Given the description of an element on the screen output the (x, y) to click on. 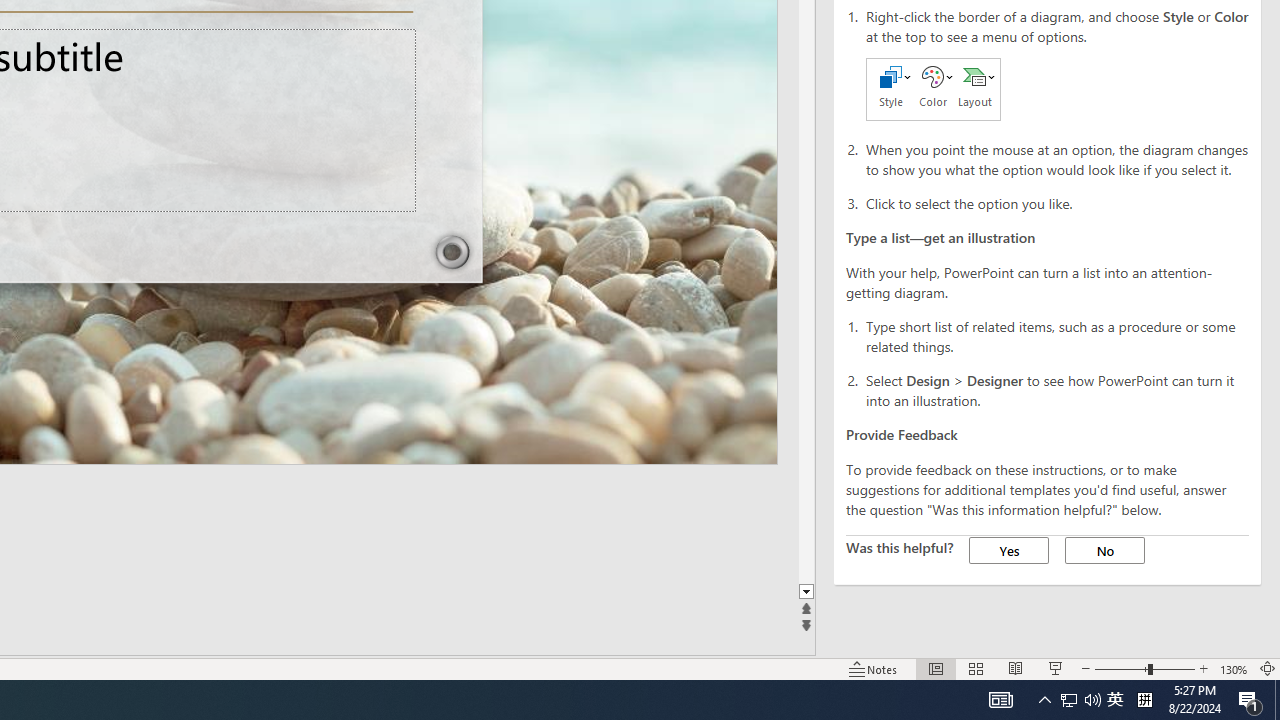
Click to select the option you like. (1057, 202)
